Given the description of an element on the screen output the (x, y) to click on. 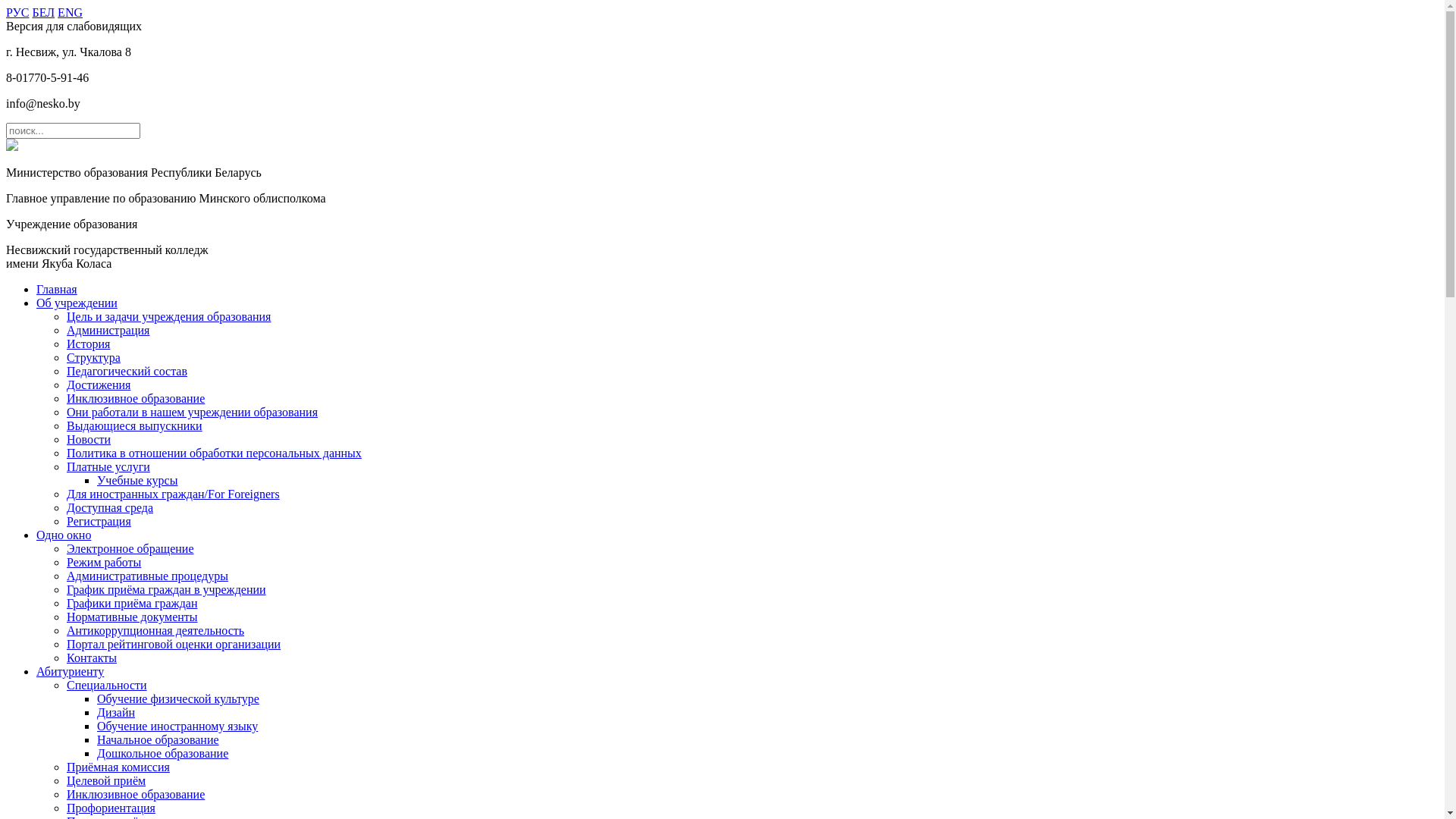
ENG Element type: text (69, 12)
